Given the description of an element on the screen output the (x, y) to click on. 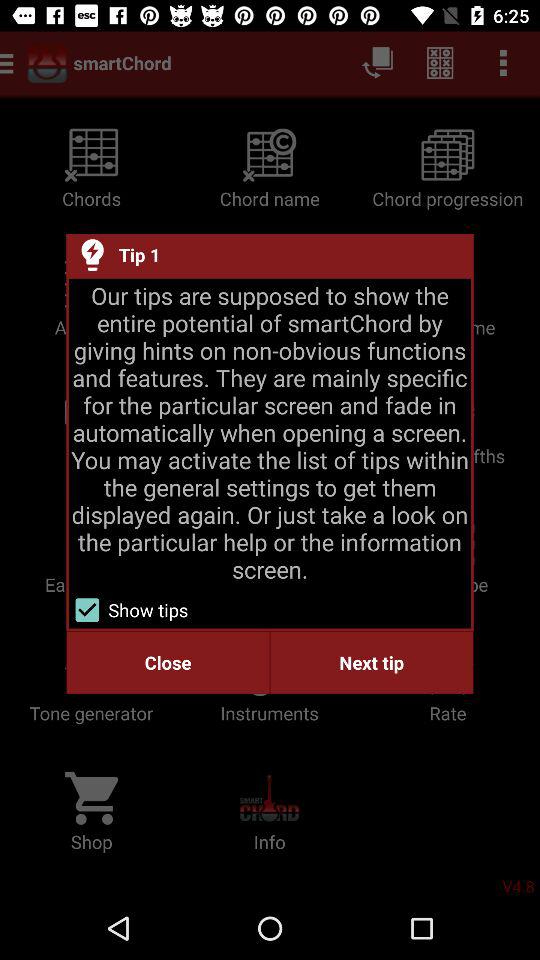
turn off close (168, 662)
